Given the description of an element on the screen output the (x, y) to click on. 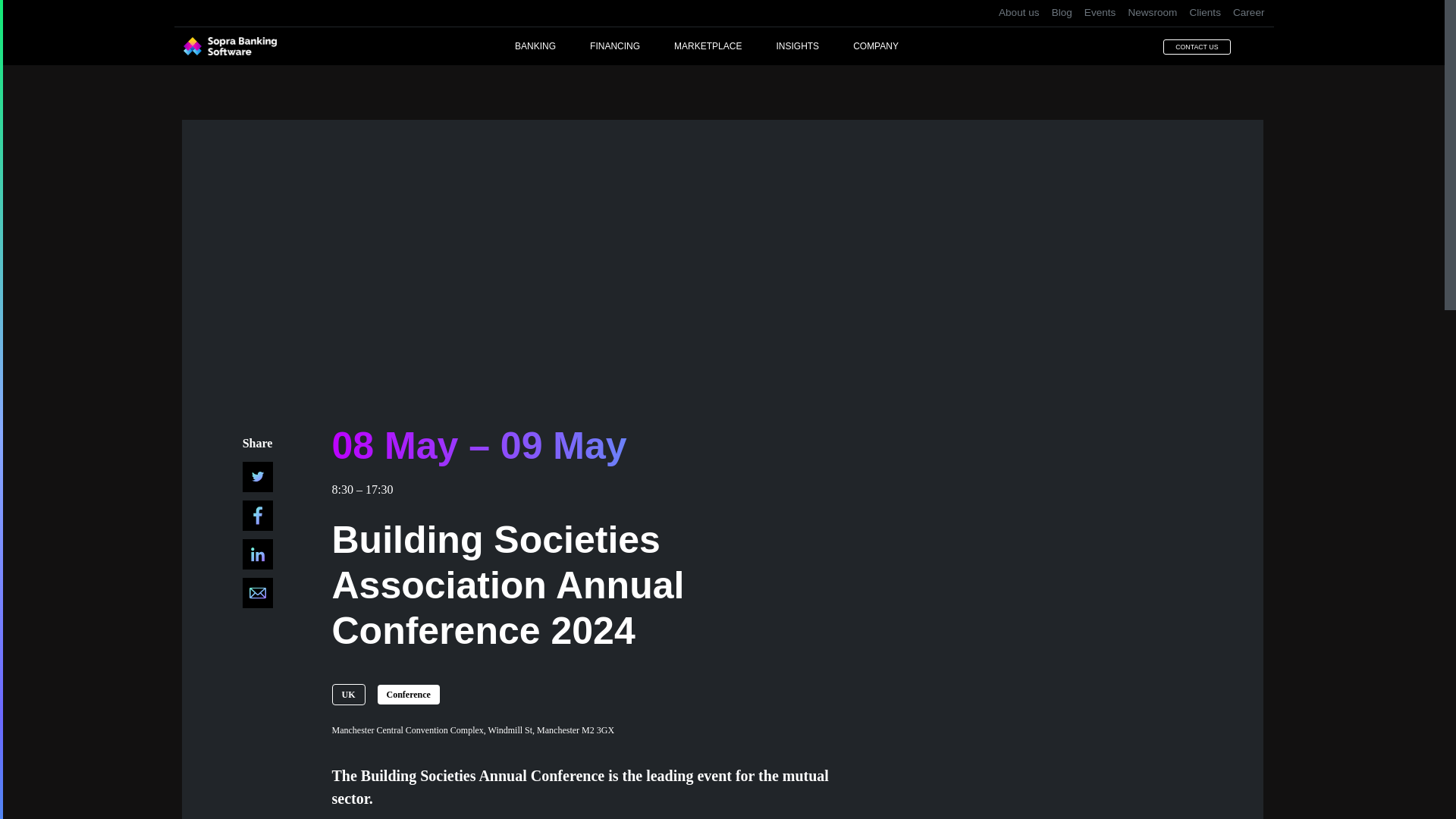
Clients (1204, 12)
Blog (1061, 12)
Back to Sopra Banking Software homepage (229, 46)
Blog (1061, 12)
Events (1100, 12)
Newsroom (1151, 12)
BANKING (552, 46)
About us (1018, 12)
Career (1246, 12)
MARKETPLACE (725, 46)
